Given the description of an element on the screen output the (x, y) to click on. 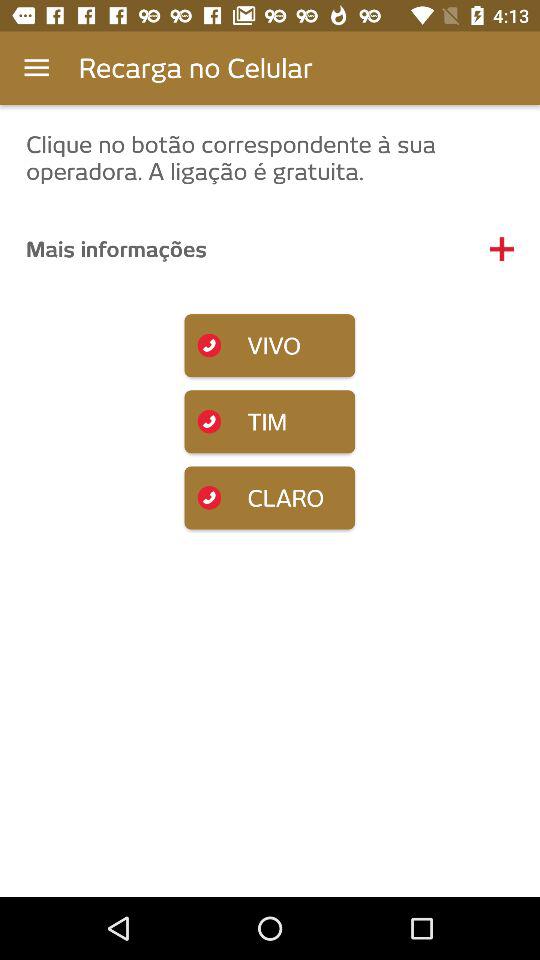
scroll until claro icon (269, 497)
